Given the description of an element on the screen output the (x, y) to click on. 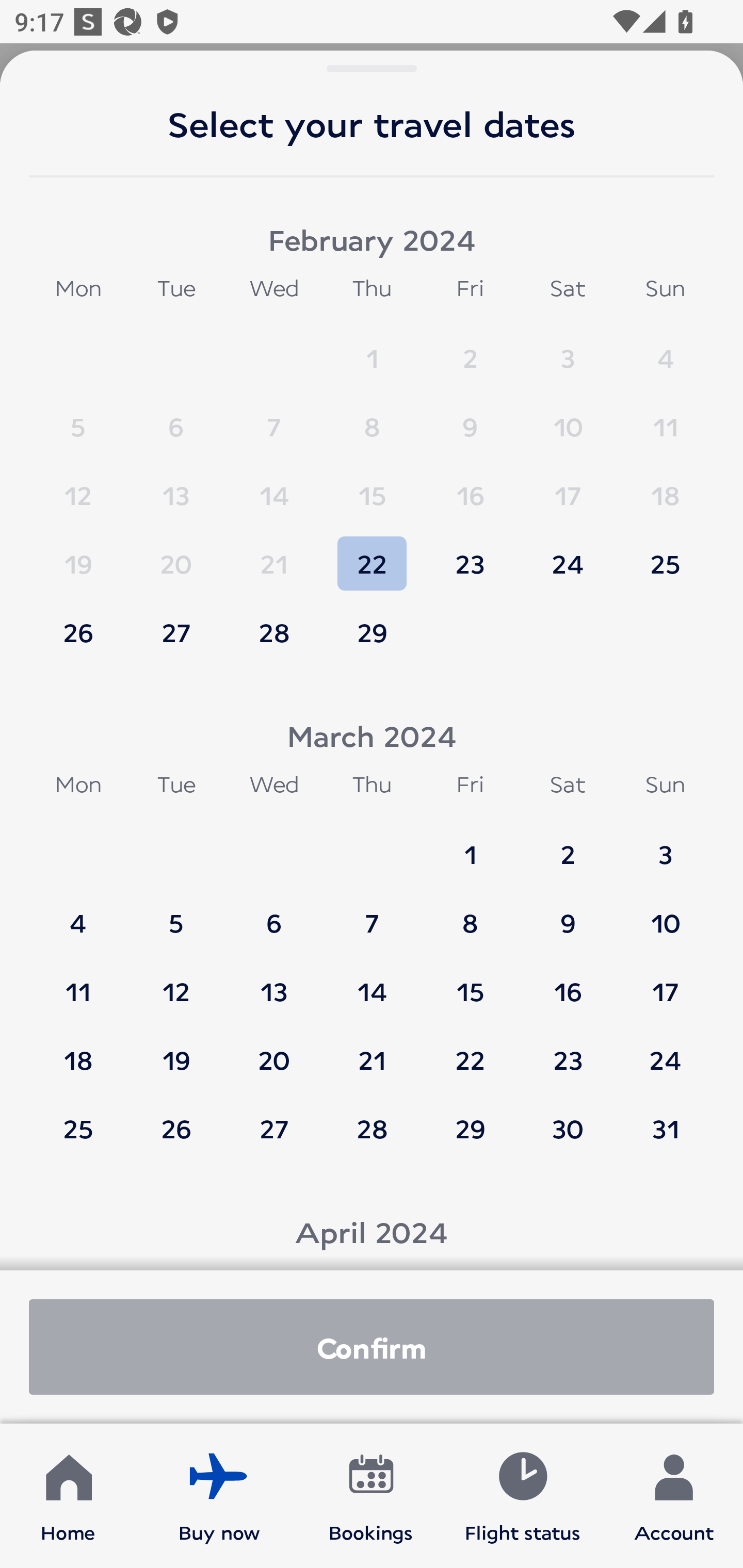
1 (372, 348)
2 (470, 348)
3 (567, 348)
4 (665, 348)
5 (77, 416)
6 (176, 416)
7 (274, 416)
8 (372, 416)
9 (470, 416)
10 (567, 416)
11 (665, 416)
12 (77, 485)
13 (176, 485)
14 (274, 485)
15 (372, 485)
16 (470, 485)
17 (567, 485)
18 (665, 485)
19 (77, 554)
20 (176, 554)
21 (274, 554)
22 (372, 554)
23 (470, 554)
24 (567, 554)
25 (665, 554)
26 (77, 632)
27 (176, 632)
28 (274, 632)
29 (372, 632)
1 (470, 844)
2 (567, 844)
3 (665, 844)
4 (77, 913)
5 (176, 913)
6 (274, 913)
7 (372, 913)
8 (470, 913)
9 (567, 913)
10 (665, 913)
11 (77, 982)
12 (176, 982)
13 (274, 982)
14 (372, 982)
15 (470, 982)
16 (567, 982)
17 (665, 982)
18 (77, 1050)
19 (176, 1050)
20 (274, 1050)
21 (372, 1050)
22 (470, 1050)
23 (567, 1050)
24 (665, 1050)
25 (77, 1128)
26 (176, 1128)
27 (274, 1128)
28 (372, 1128)
29 (470, 1128)
30 (567, 1128)
31 (665, 1128)
Confirm (371, 1346)
Home (68, 1495)
Bookings (370, 1495)
Flight status (522, 1495)
Account (674, 1495)
